Given the description of an element on the screen output the (x, y) to click on. 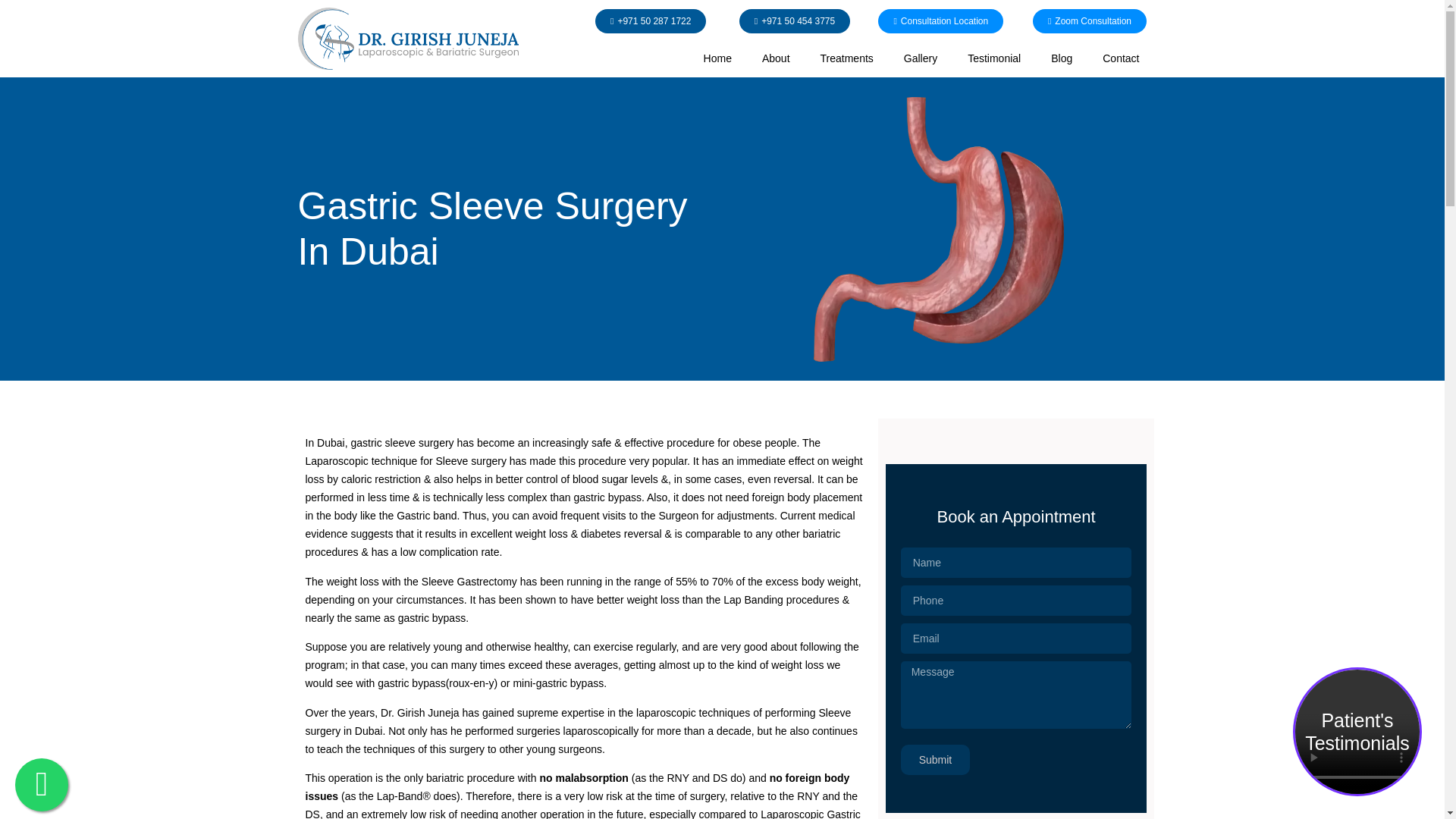
About (775, 58)
Gallery (920, 58)
Contact (1120, 58)
Testimonial (993, 58)
Consultation Location (940, 21)
Home (717, 58)
Zoom Consultation (1089, 21)
Treatments (846, 58)
Blog (1061, 58)
